Given the description of an element on the screen output the (x, y) to click on. 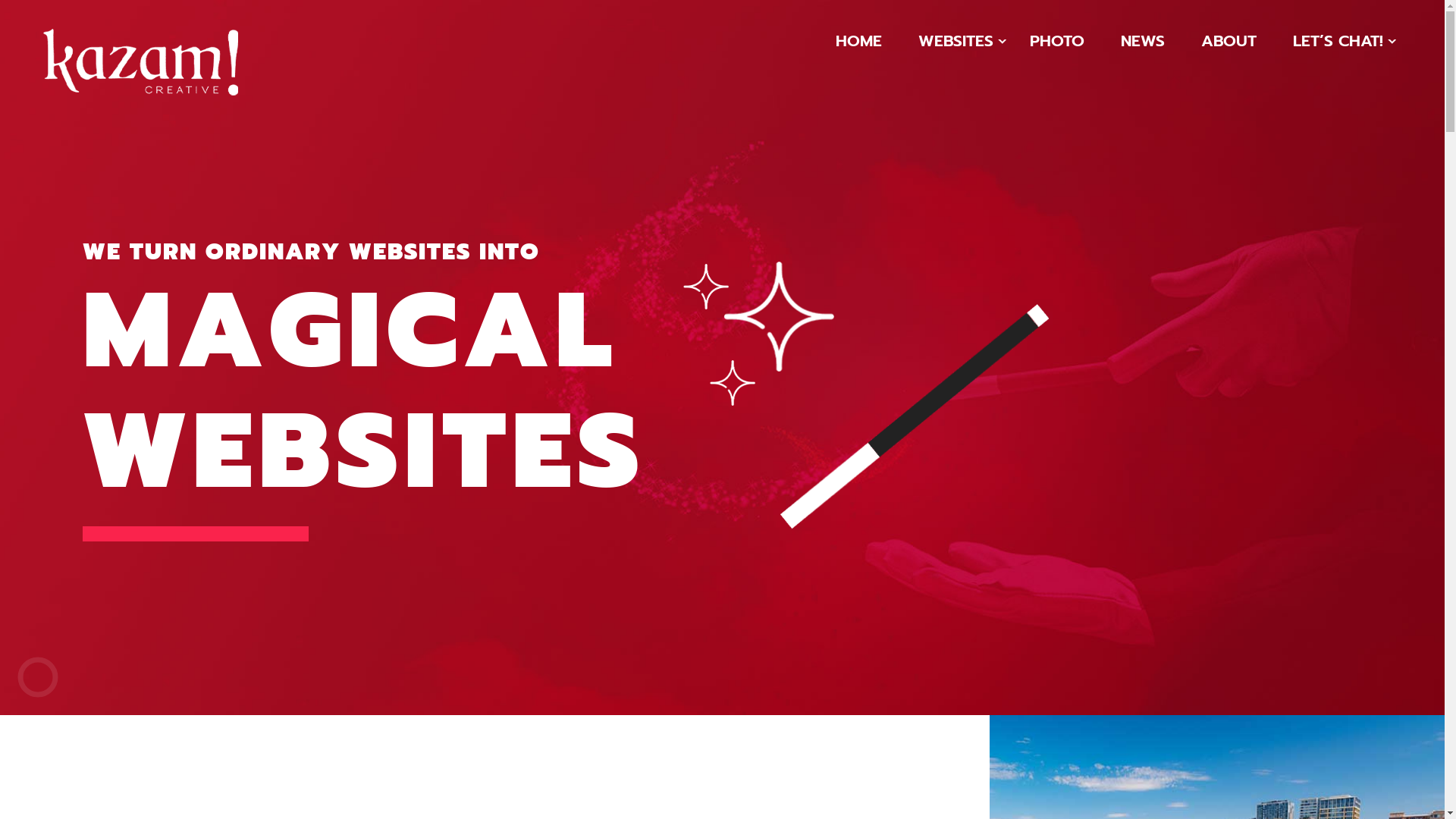
ABOUT Element type: text (1228, 44)
WEBSITES Element type: text (955, 44)
NEWS Element type: text (1142, 44)
HOME Element type: text (858, 44)
PHOTO Element type: text (1056, 44)
